Given the description of an element on the screen output the (x, y) to click on. 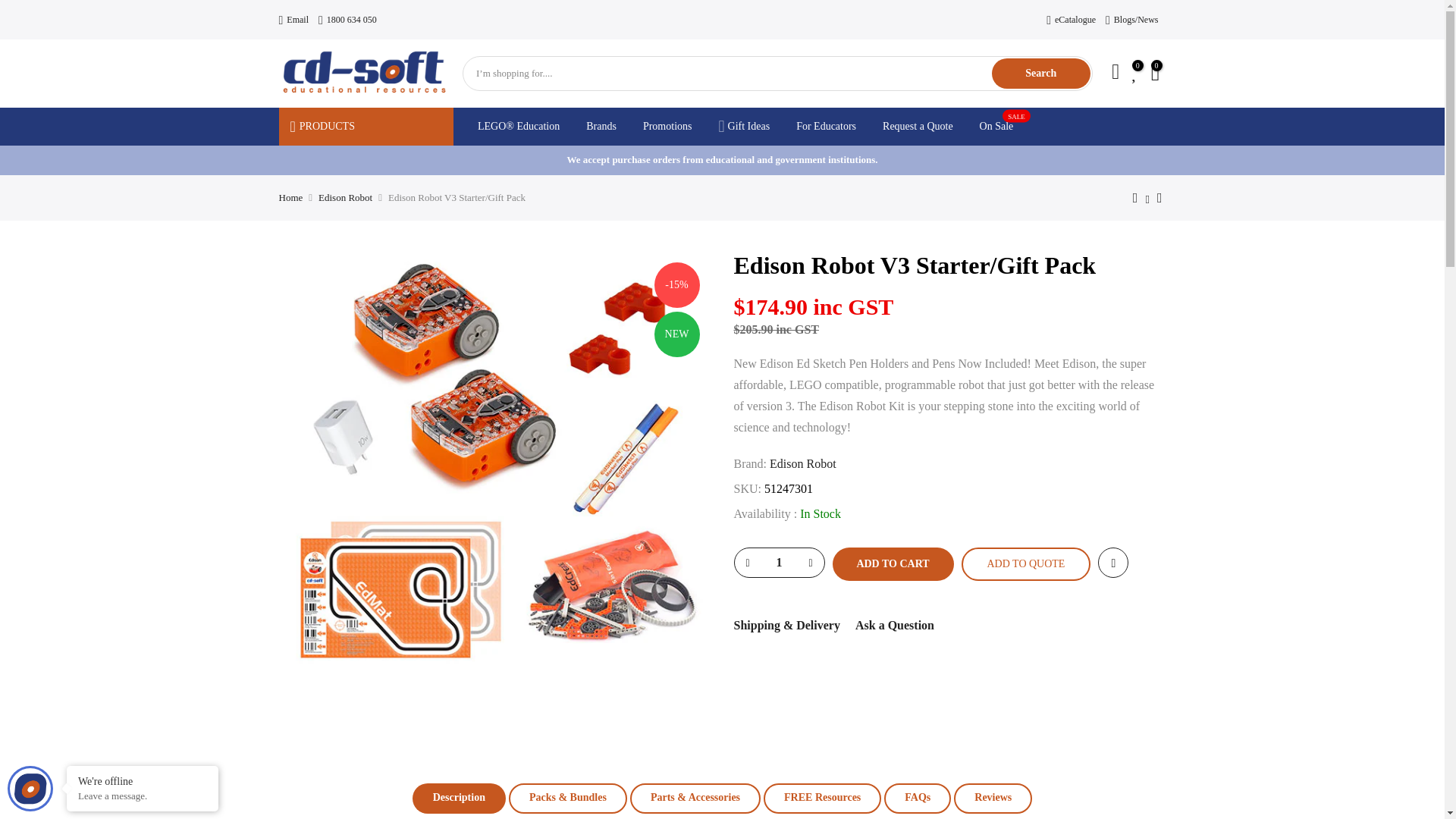
Email (293, 19)
1800 634 050 (347, 19)
1 (778, 562)
Search (1040, 73)
eCatalogue (1071, 19)
